Given the description of an element on the screen output the (x, y) to click on. 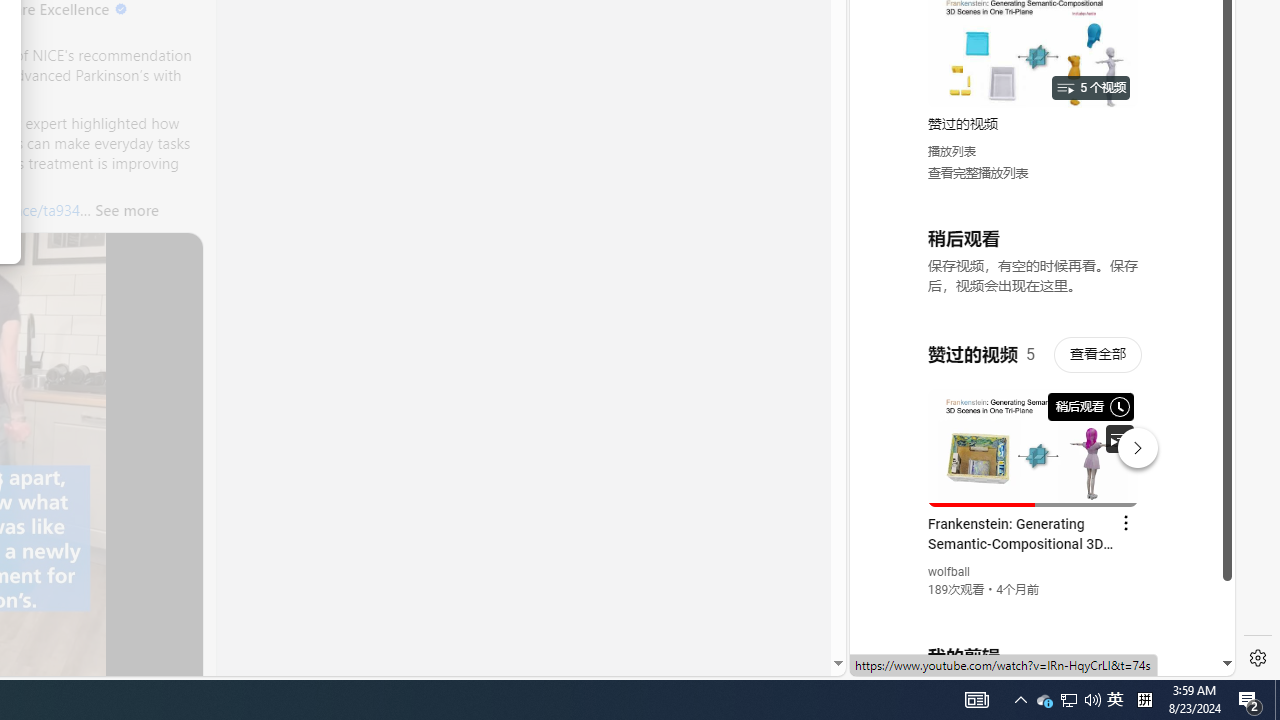
US[ju] (917, 660)
Class: dict_pnIcon rms_img (1028, 660)
YouTube - YouTube (1034, 266)
Global web icon (888, 432)
